Given the description of an element on the screen output the (x, y) to click on. 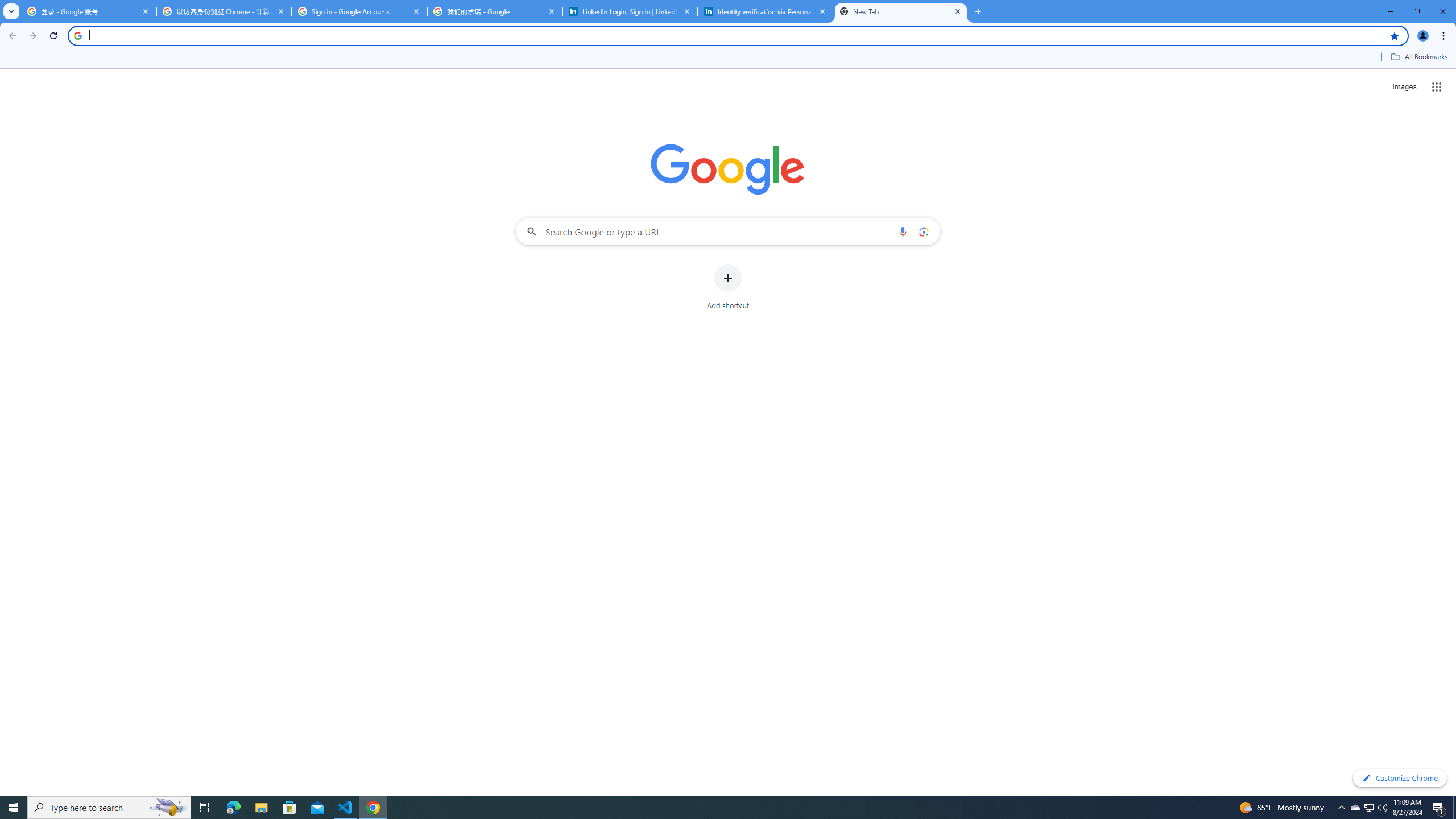
Back (10, 35)
Forward (32, 35)
Search Google or type a URL (727, 230)
Chrome (1445, 35)
Customize Chrome (1399, 778)
Close (957, 11)
Bookmark this tab (1393, 35)
Add shortcut (727, 287)
Reload (52, 35)
New Tab (977, 11)
Search by voice (902, 230)
Minimize (1390, 11)
Search tabs (10, 11)
